Given the description of an element on the screen output the (x, y) to click on. 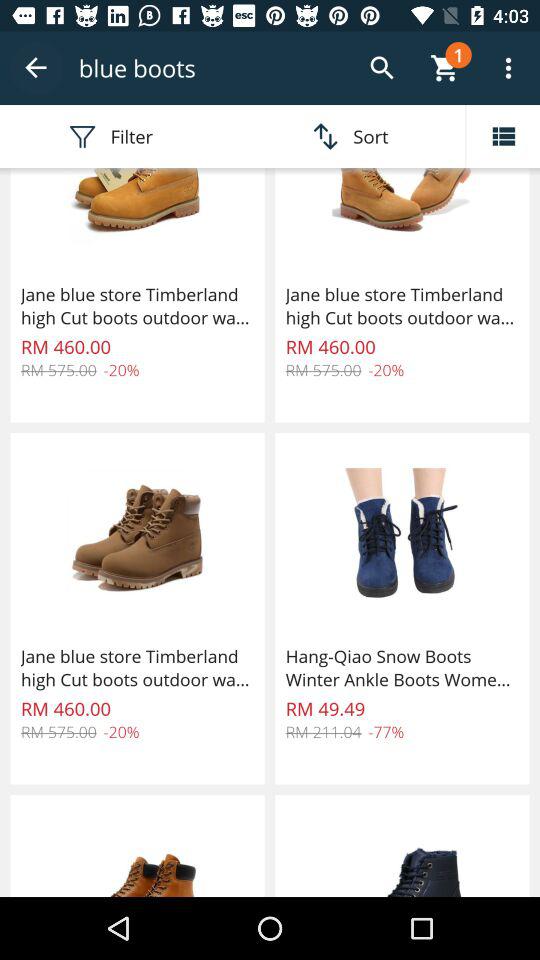
other options (503, 136)
